Given the description of an element on the screen output the (x, y) to click on. 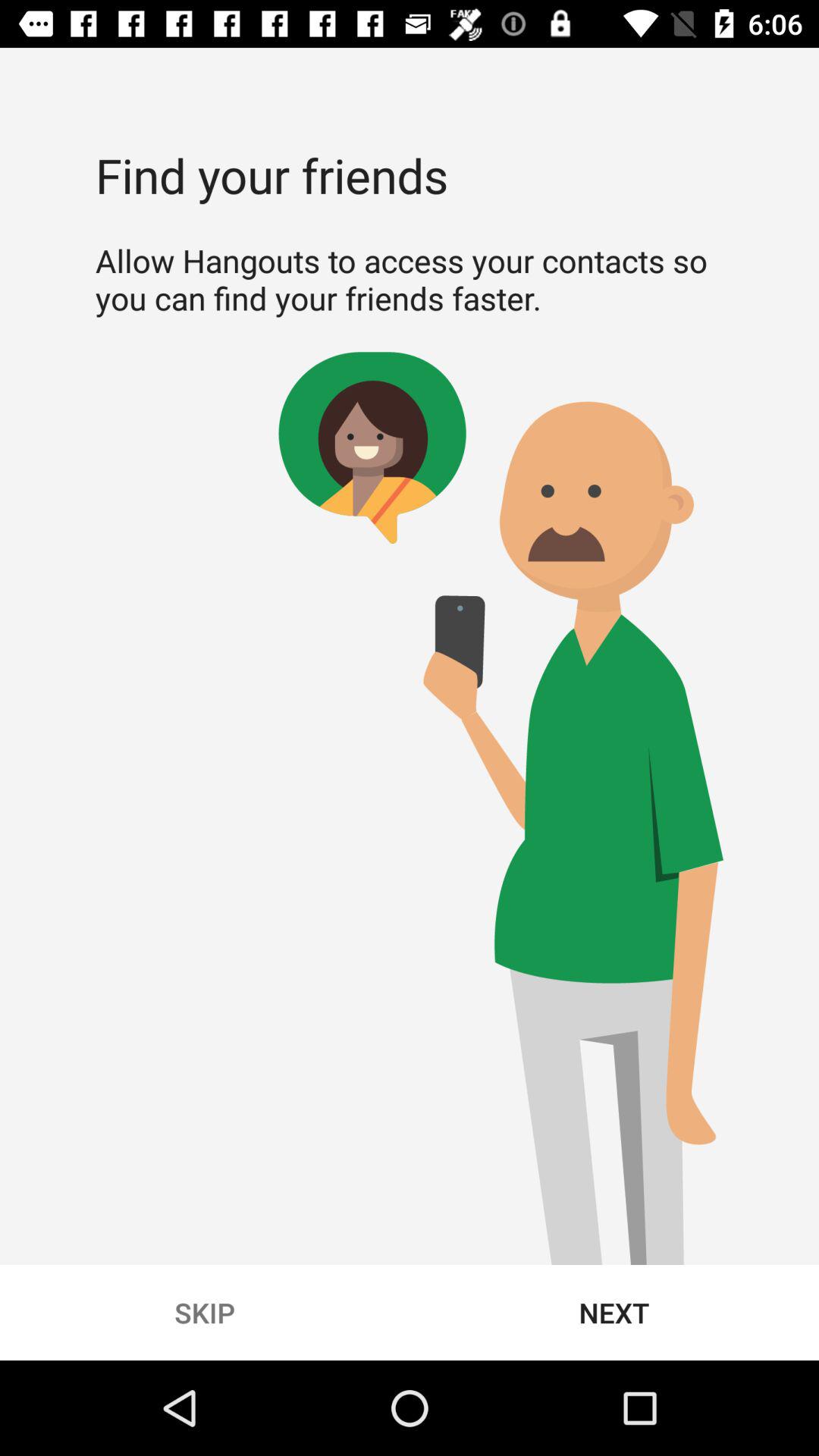
open next button (614, 1312)
